Given the description of an element on the screen output the (x, y) to click on. 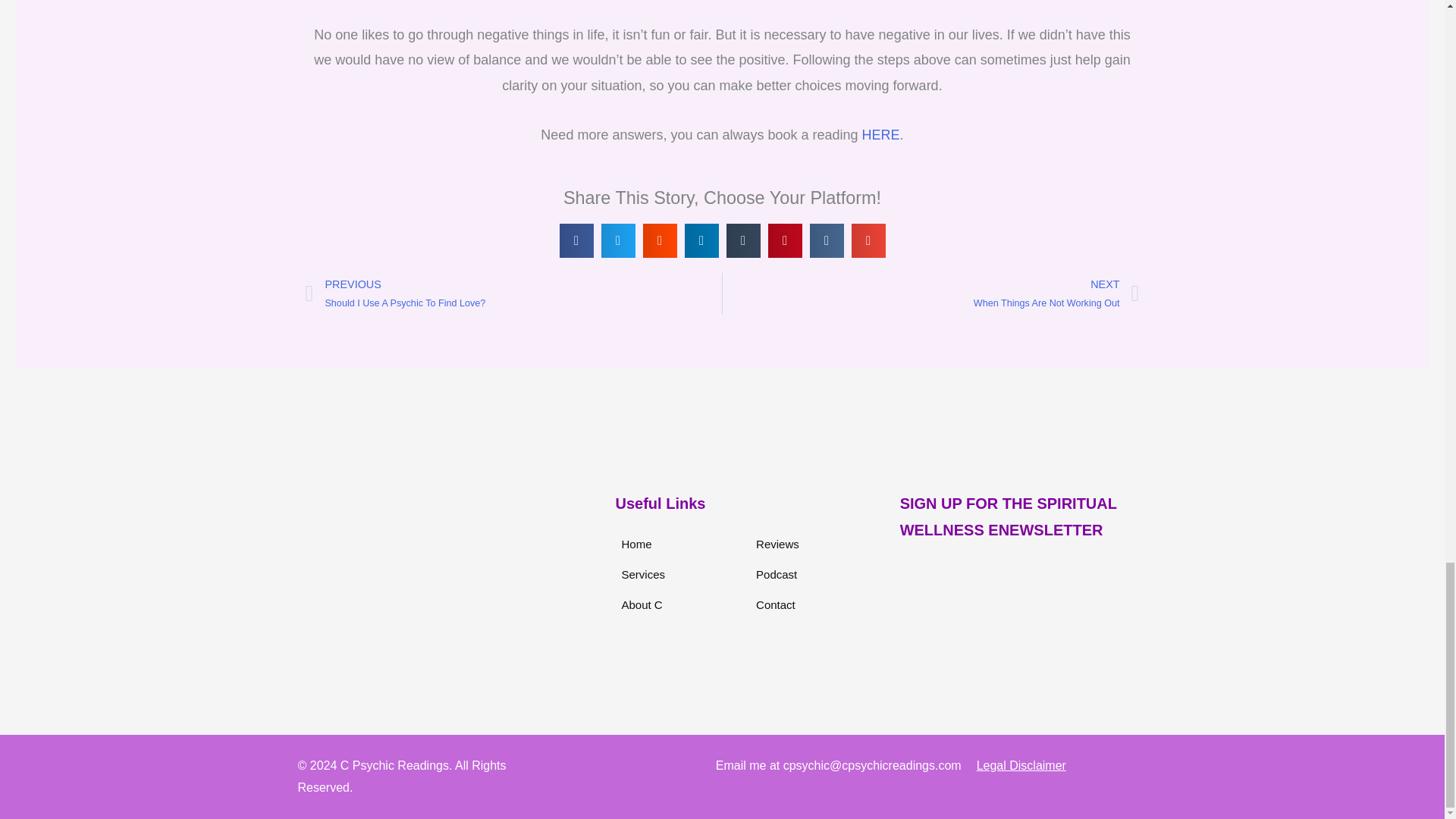
Home (513, 293)
Contact (632, 544)
Podcast (771, 604)
Legal Disclaimer (772, 574)
Reviews (1060, 765)
HERE (774, 544)
Services (880, 134)
About C (639, 574)
